Given the description of an element on the screen output the (x, y) to click on. 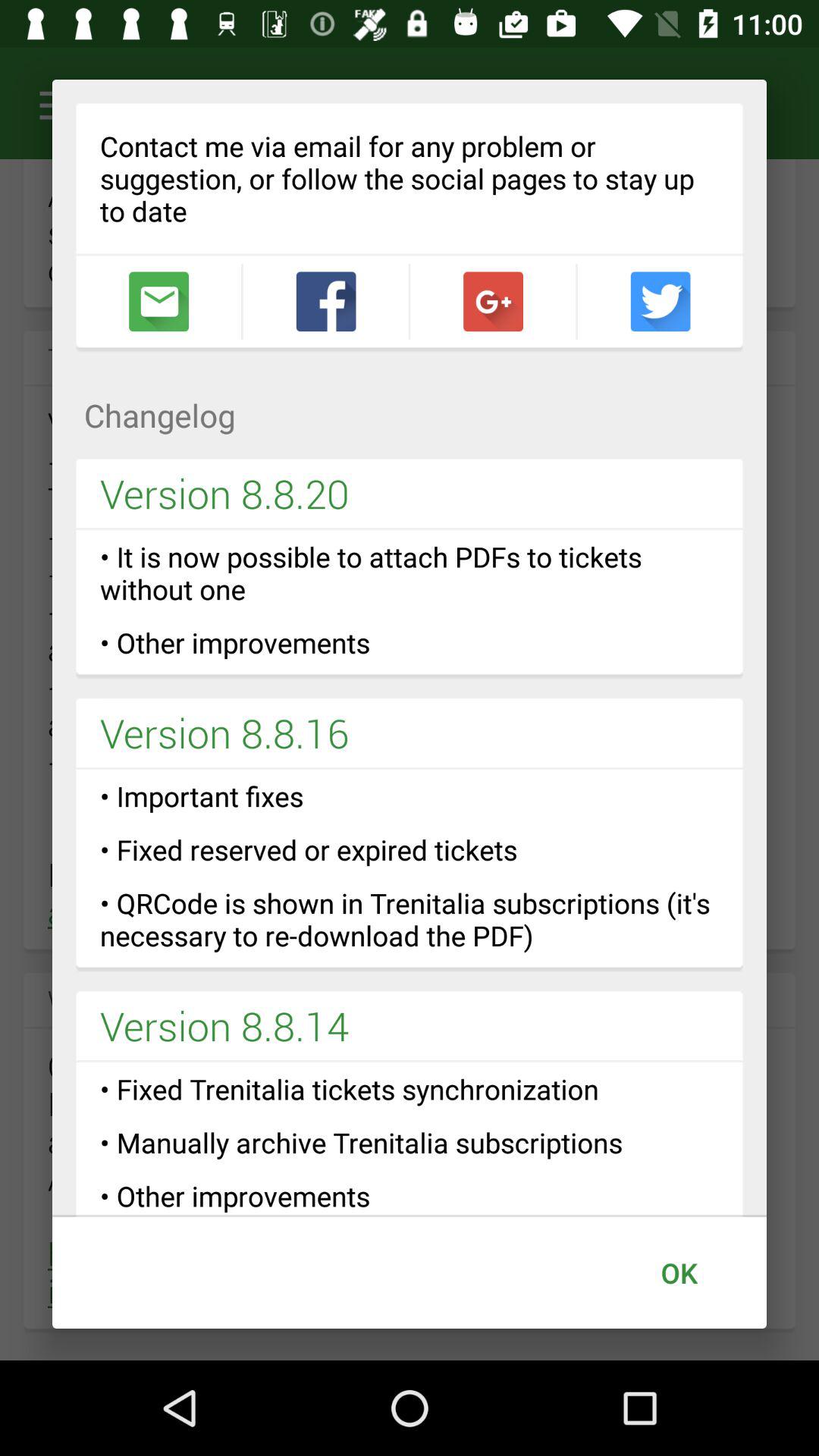
contact via twitter (659, 301)
